Given the description of an element on the screen output the (x, y) to click on. 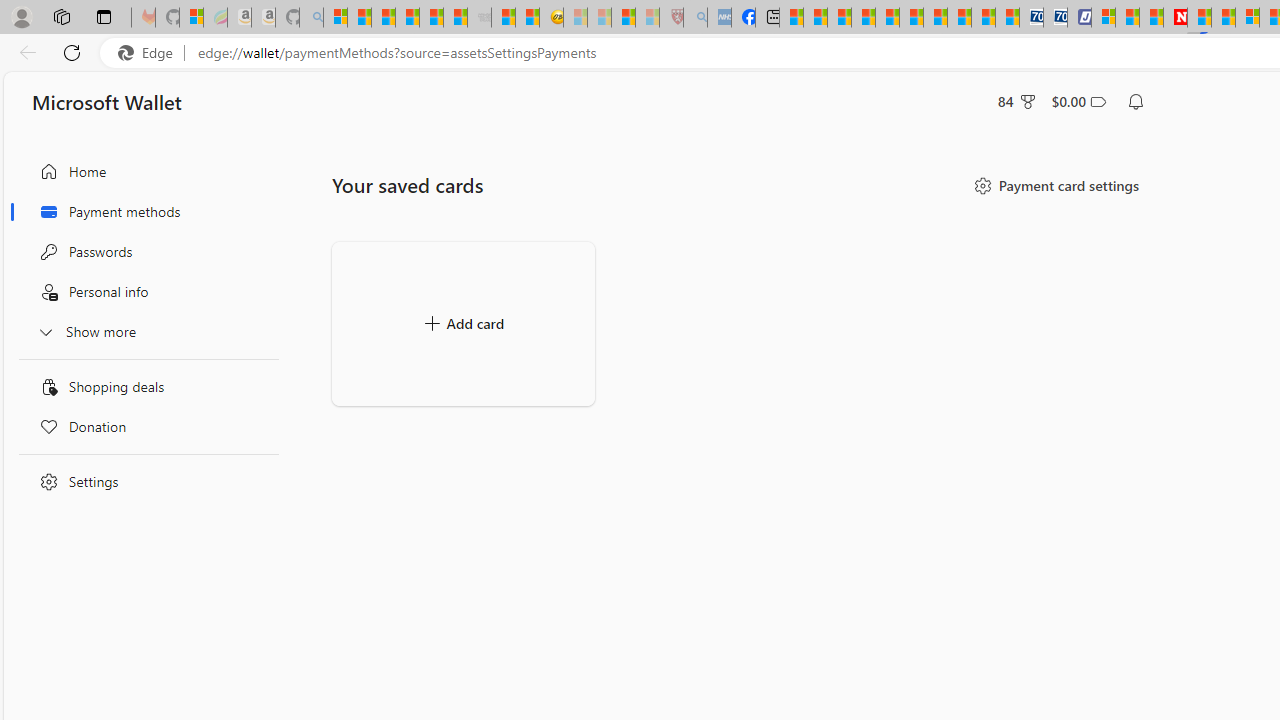
Show more (143, 331)
Shopping deals (143, 386)
Payment card settings (1055, 185)
Newsweek - News, Analysis, Politics, Business, Technology (1174, 17)
Payment methods (143, 211)
The Weather Channel - MSN (383, 17)
